Given the description of an element on the screen output the (x, y) to click on. 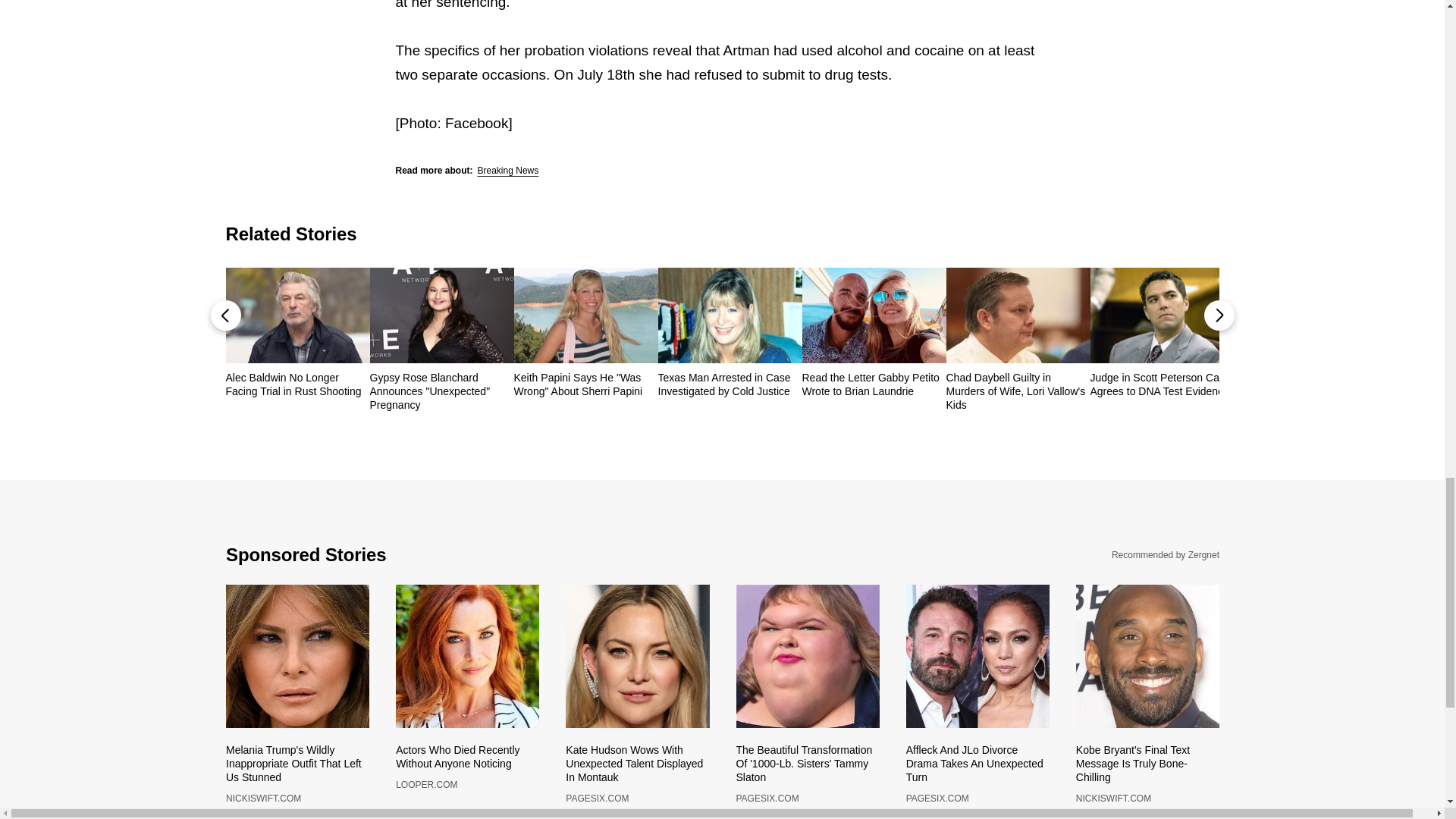
Read the Letter Gabby Petito Wrote to Brian Laundrie (874, 384)
Keith Papini Says He "Was Wrong" About Sherri Papini (585, 384)
Texas Man Arrested in Case Investigated by Cold Justice (730, 384)
Chad Daybell Guilty in Murders of Wife, Lori Vallow's Kids (1018, 391)
Gypsy Rose Blanchard Announces "Unexpected" Pregnancy (441, 391)
Breaking News (507, 170)
Alec Baldwin No Longer Facing Trial in Rust Shooting (297, 384)
